Given the description of an element on the screen output the (x, y) to click on. 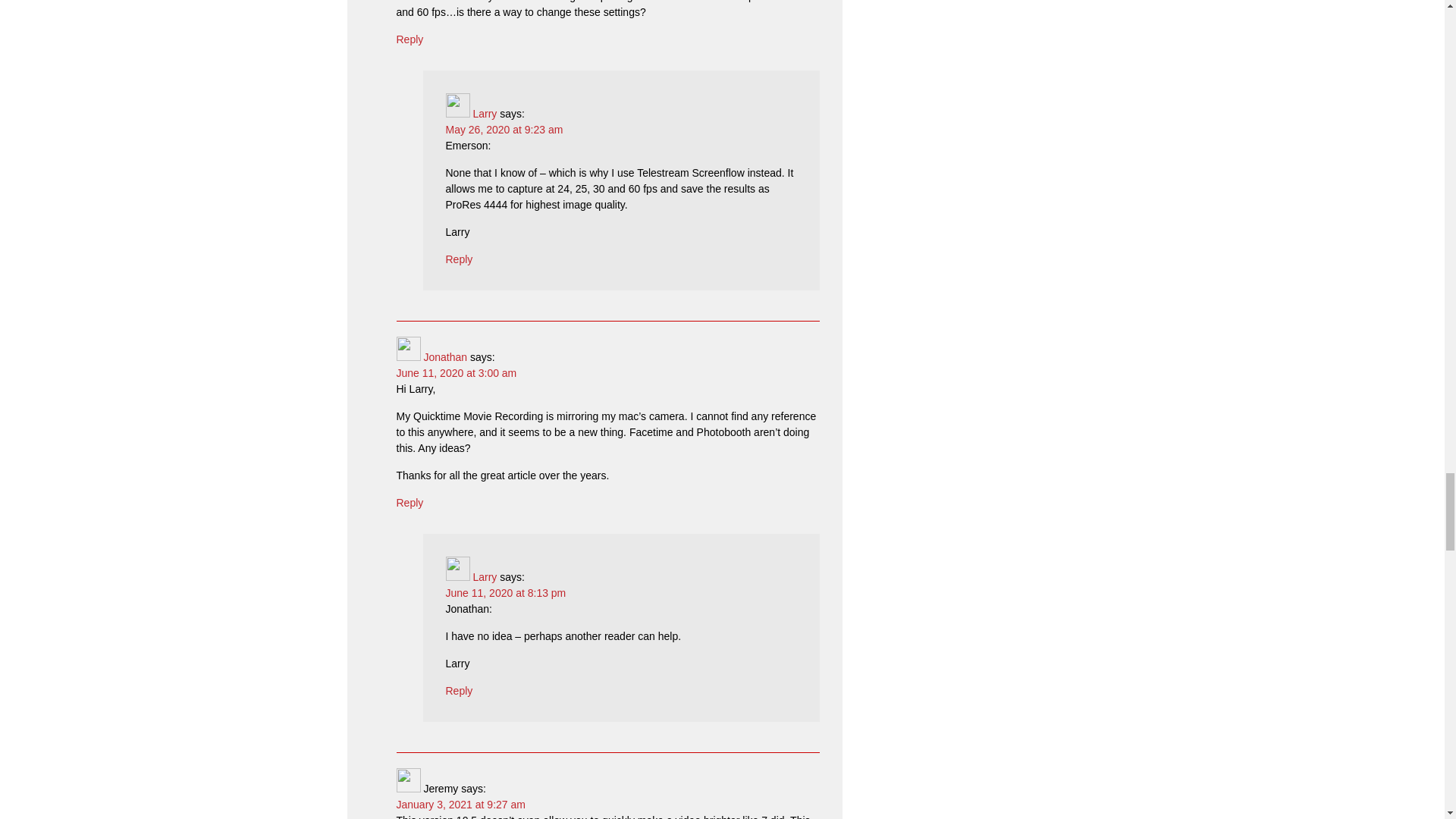
Larry (483, 113)
June 11, 2020 at 8:13 pm (505, 592)
Reply (459, 259)
Larry (483, 576)
Reply (409, 502)
January 3, 2021 at 9:27 am (460, 804)
May 26, 2020 at 9:23 am (504, 129)
Jonathan (445, 357)
Reply (459, 690)
June 11, 2020 at 3:00 am (456, 372)
Reply (409, 39)
